Given the description of an element on the screen output the (x, y) to click on. 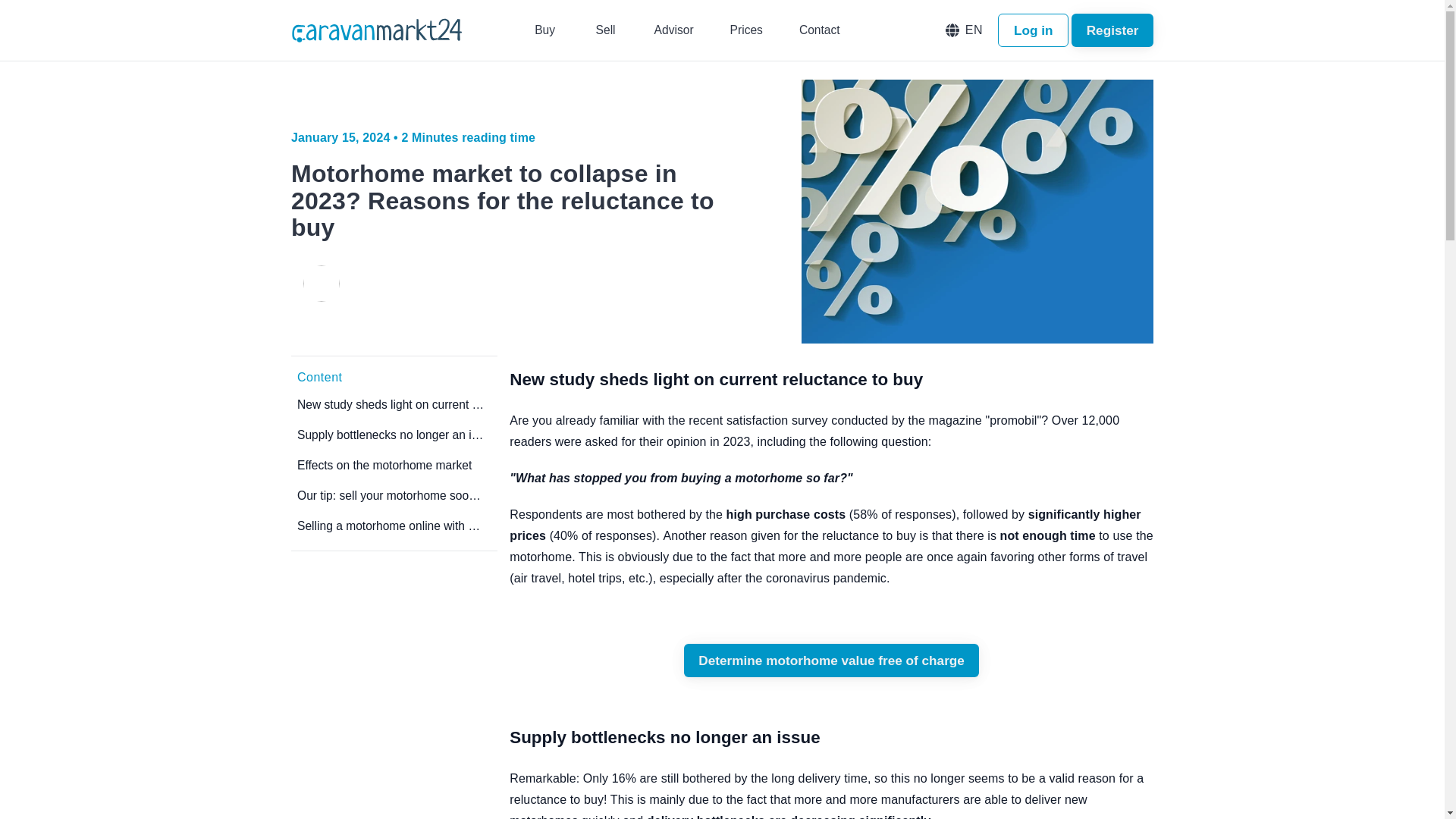
Contact (819, 30)
Determine motorhome value free of charge (831, 660)
Advisor (674, 30)
New study sheds light on current reluctance to buy (394, 408)
Log in (1032, 29)
Effects on the motorhome market (394, 468)
Selling a motorhome online with ease (394, 529)
Prices (745, 30)
Register (1112, 29)
EN (965, 29)
